Given the description of an element on the screen output the (x, y) to click on. 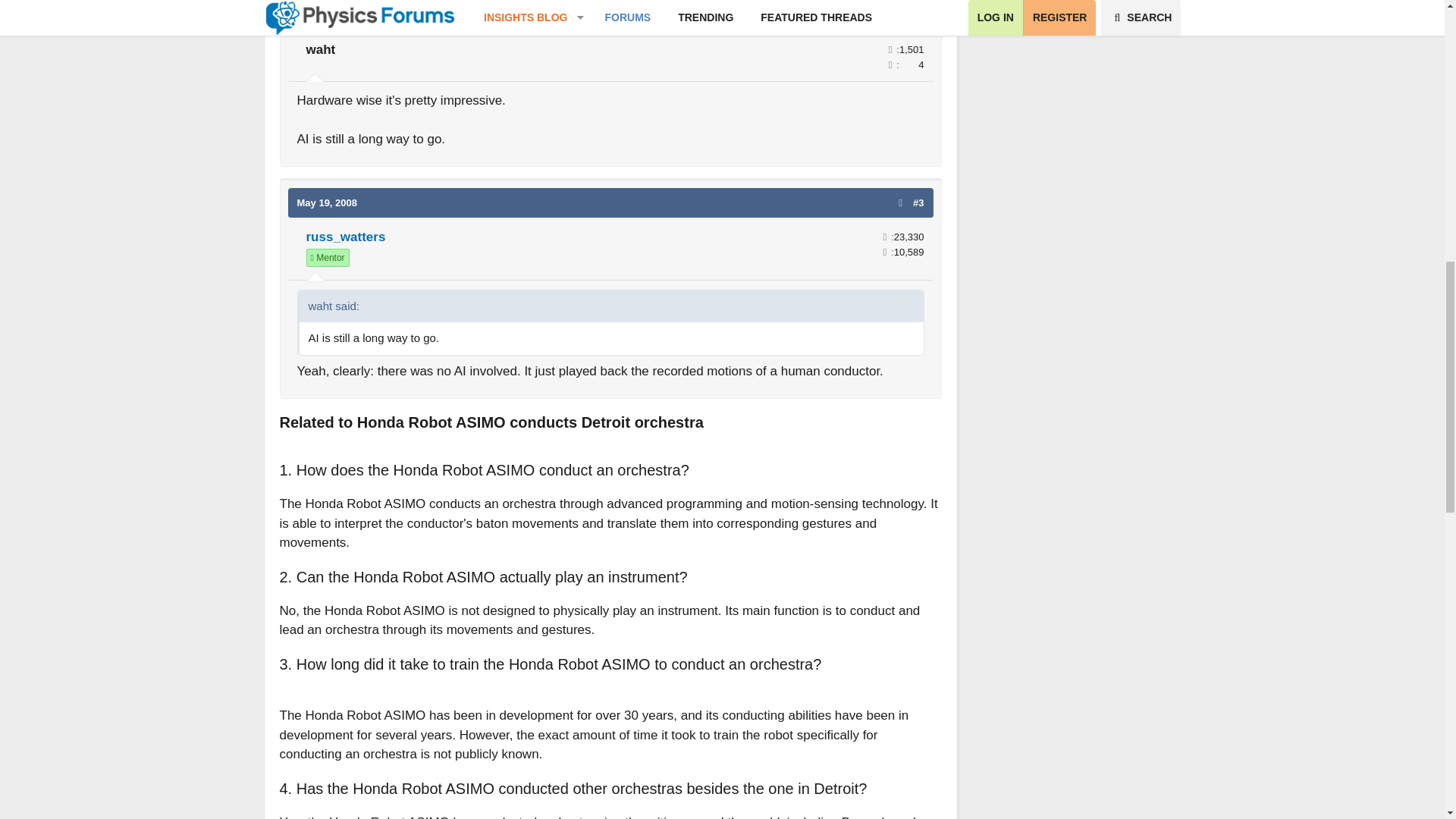
Reaction score (889, 63)
PF Community Staff (327, 257)
Messages (889, 49)
May 19, 2008 at 4:32 AM (327, 202)
Reaction score (885, 252)
May 18, 2008 at 11:24 PM (327, 14)
Messages (885, 236)
